Given the description of an element on the screen output the (x, y) to click on. 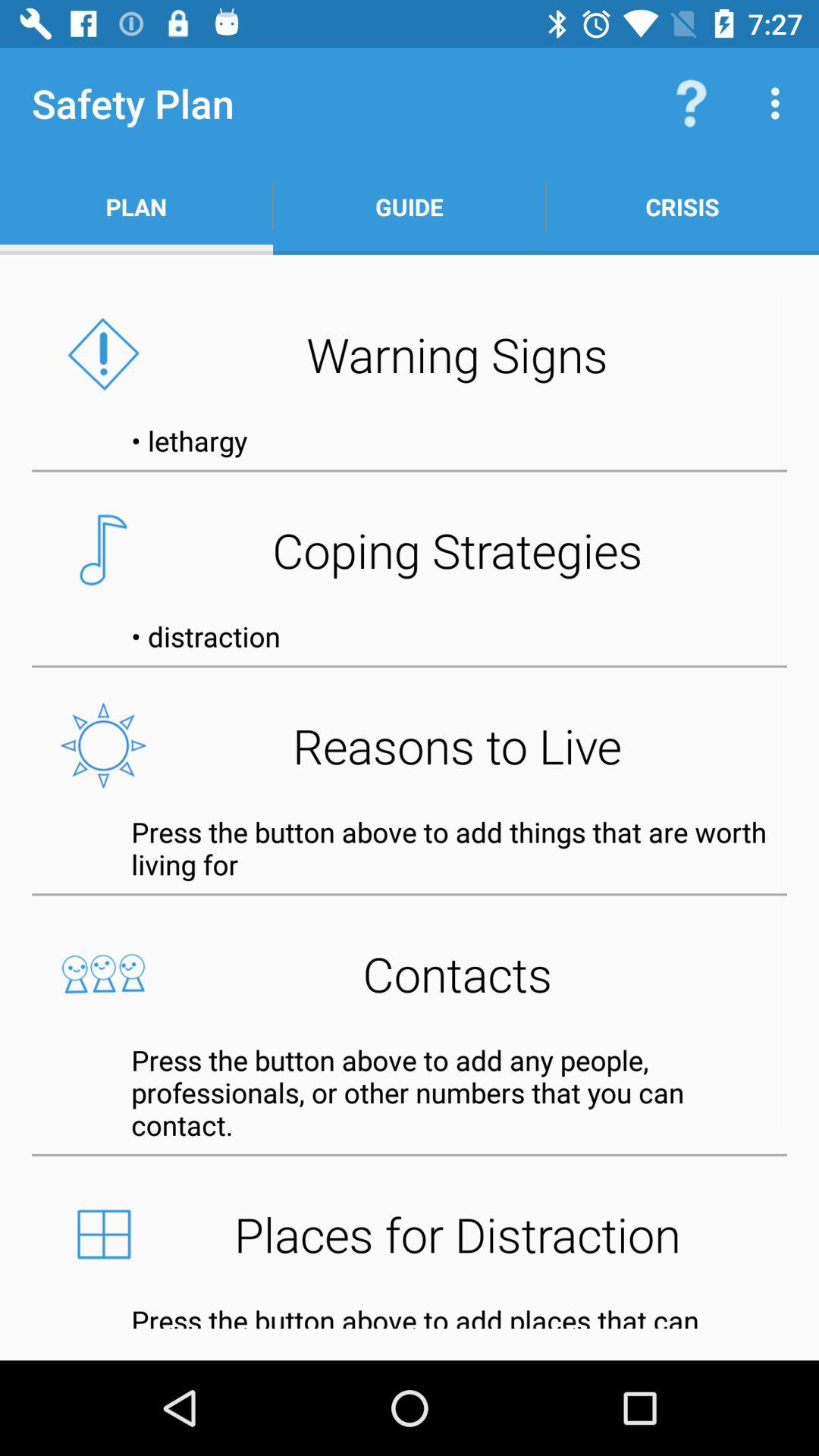
scroll to the contacts icon (409, 973)
